Given the description of an element on the screen output the (x, y) to click on. 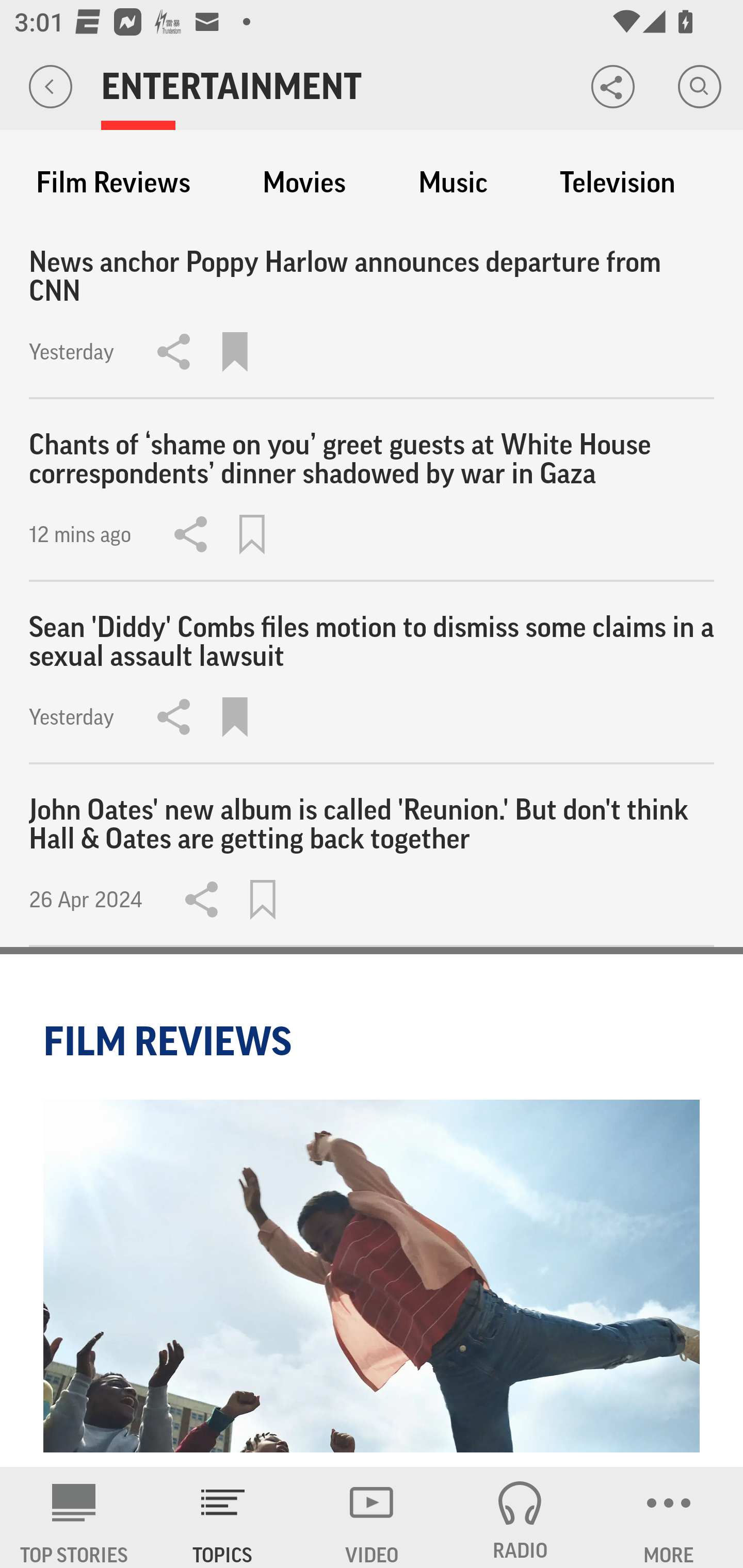
Film Reviews (112, 182)
Movies (304, 182)
Music (452, 182)
Television (617, 182)
FILM REVIEWS (170, 1040)
AP News TOP STORIES (74, 1517)
TOPICS (222, 1517)
VIDEO (371, 1517)
RADIO (519, 1517)
MORE (668, 1517)
